Given the description of an element on the screen output the (x, y) to click on. 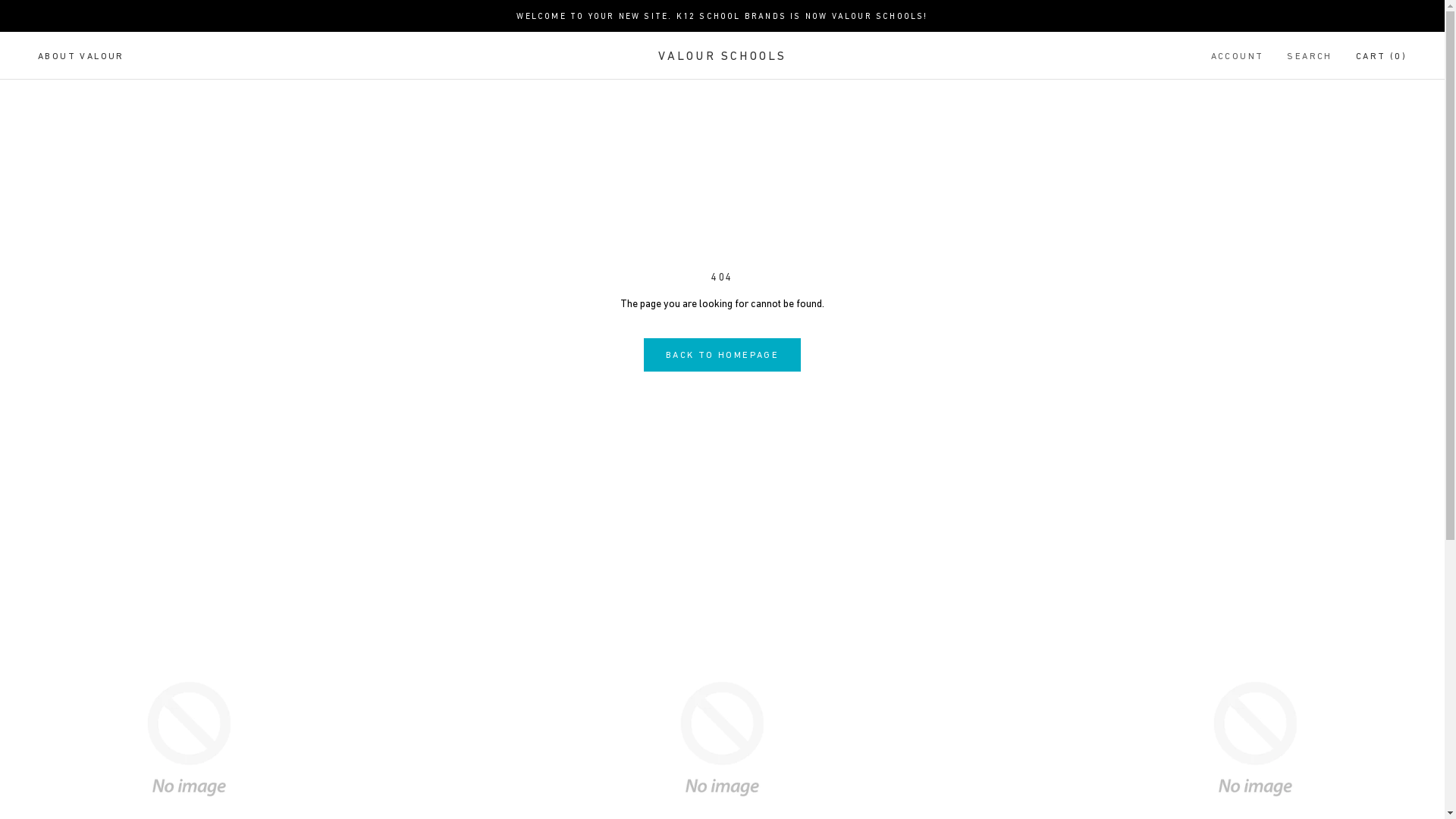
ABOUT VALOUR Element type: text (80, 55)
BACK TO HOMEPAGE Element type: text (721, 354)
CART (0) Element type: text (1380, 55)
ACCOUNT Element type: text (1237, 56)
SEARCH Element type: text (1308, 56)
VALOUR SCHOOLS Element type: text (722, 55)
